Given the description of an element on the screen output the (x, y) to click on. 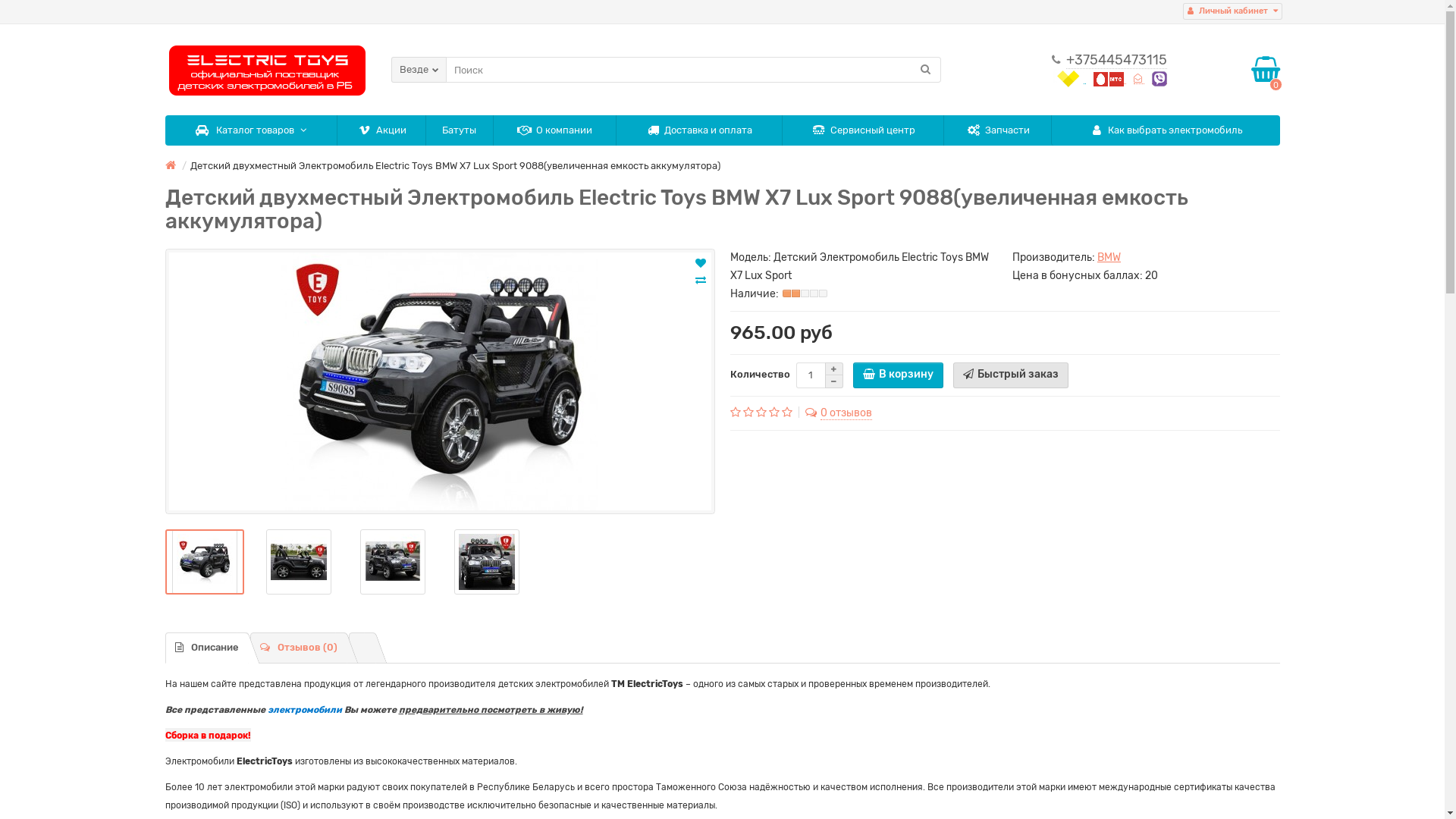
BMW Element type: text (1108, 257)
0 Element type: text (1265, 69)
